Given the description of an element on the screen output the (x, y) to click on. 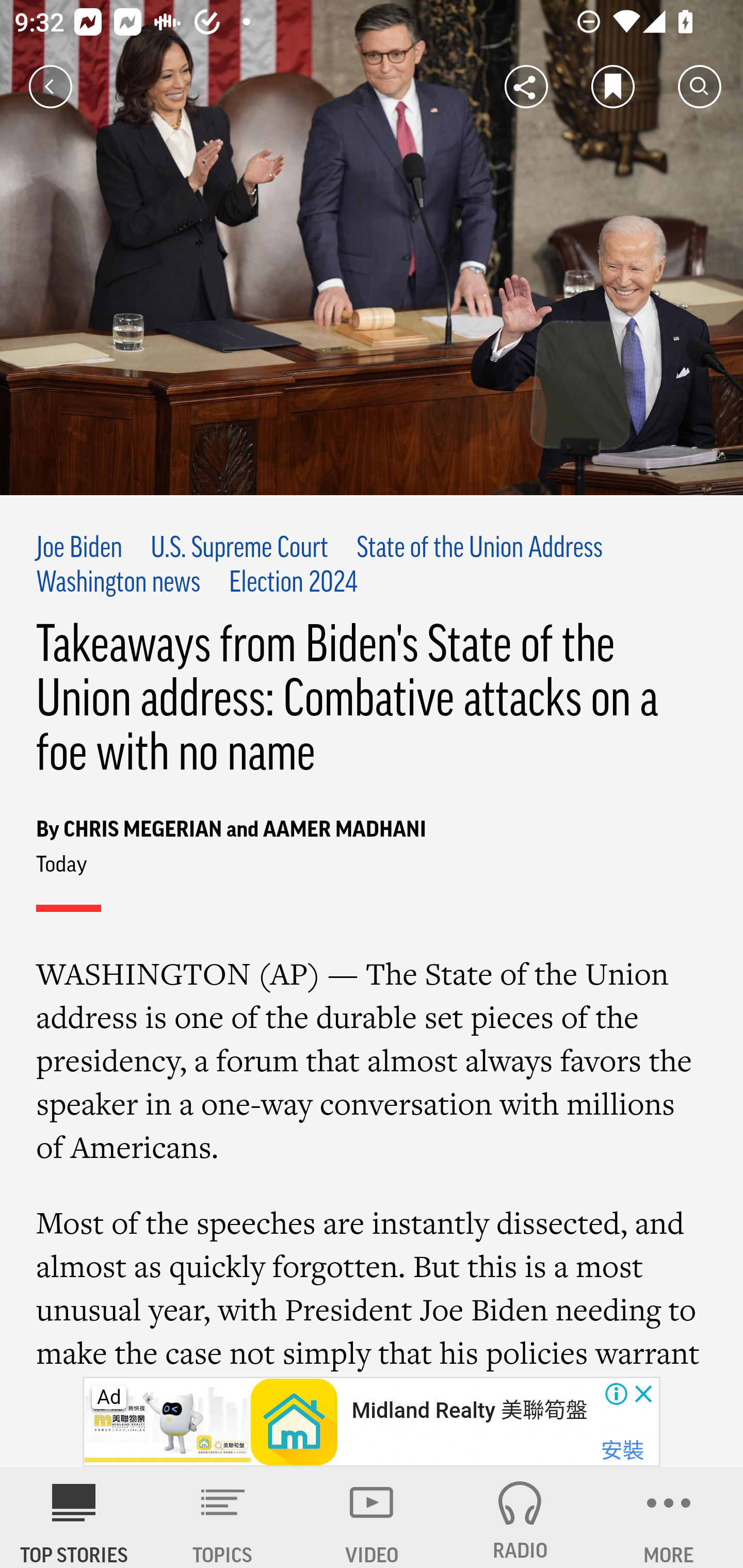
Joe Biden (79, 549)
U.S. Supreme Court (239, 549)
State of the Union Address (479, 549)
Washington news (119, 584)
Election 2024 (292, 584)
Midland Realty 美聯筍盤 (468, 1410)
安裝 (621, 1450)
AP News TOP STORIES (74, 1517)
TOPICS (222, 1517)
VIDEO (371, 1517)
RADIO (519, 1517)
MORE (668, 1517)
